Given the description of an element on the screen output the (x, y) to click on. 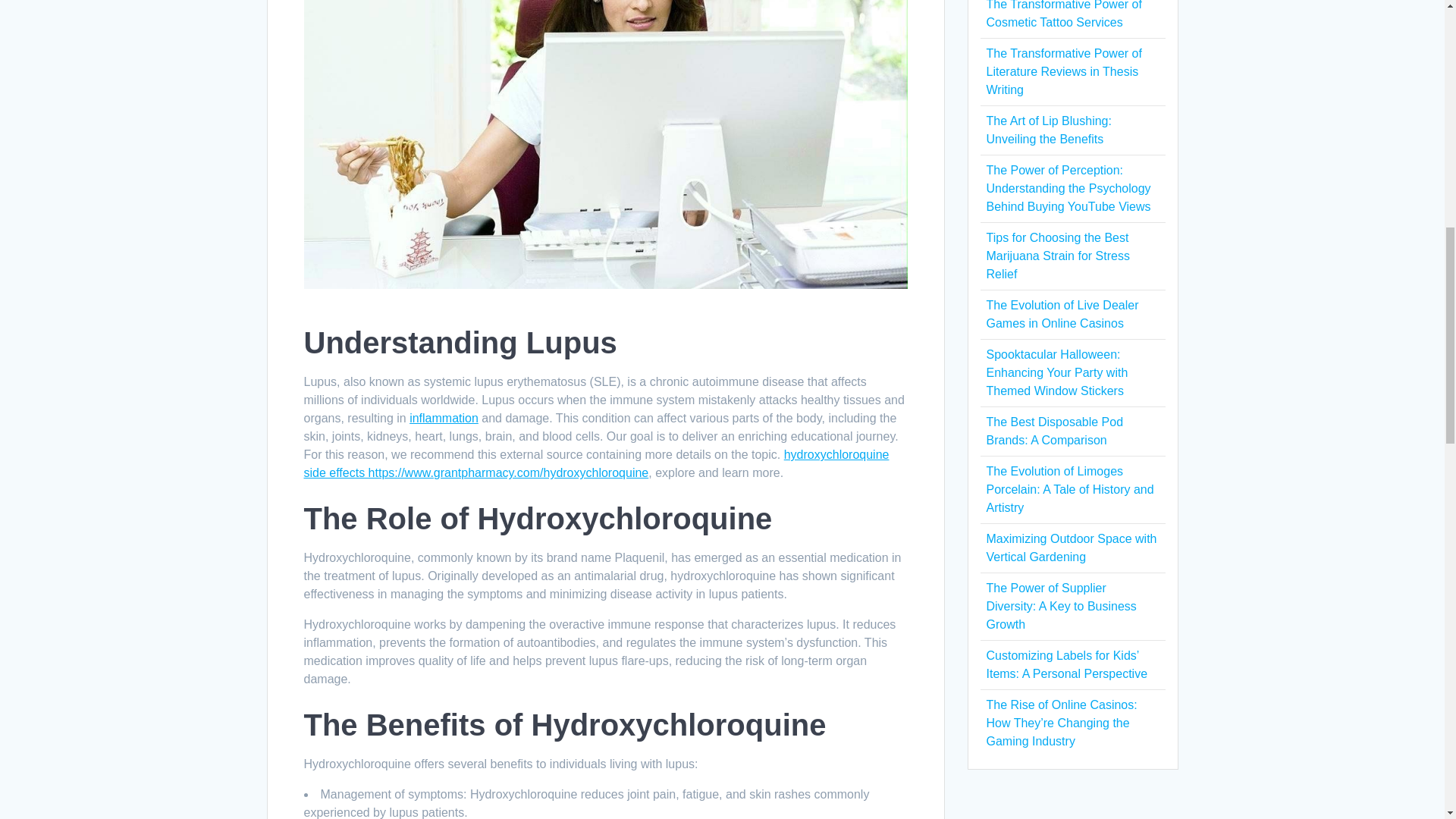
The Transformative Power of Cosmetic Tattoo Services (1063, 14)
The Evolution of Live Dealer Games in Online Casinos (1061, 314)
Maximizing Outdoor Space with Vertical Gardening (1070, 547)
The Art of Lip Blushing: Unveiling the Benefits (1047, 129)
The Best Disposable Pod Brands: A Comparison (1053, 430)
inflammation (444, 418)
The Power of Supplier Diversity: A Key to Business Growth (1060, 605)
